Given the description of an element on the screen output the (x, y) to click on. 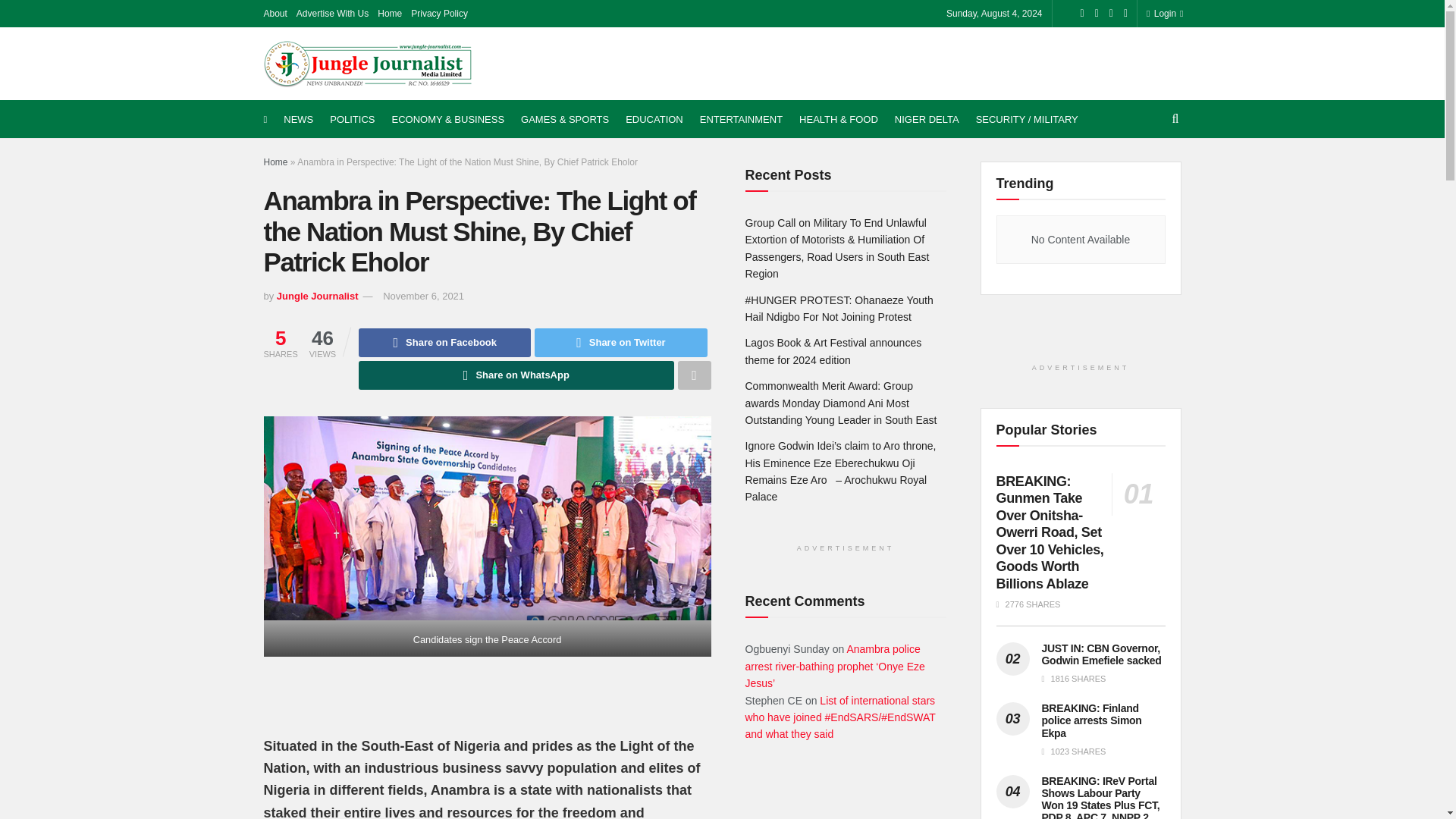
Advertise With Us (332, 13)
Login (1161, 13)
NEWS (298, 119)
About (274, 13)
EDUCATION (654, 119)
Home (389, 13)
POLITICS (352, 119)
ENTERTAINMENT (741, 119)
NIGER DELTA (927, 119)
Privacy Policy (438, 13)
